Given the description of an element on the screen output the (x, y) to click on. 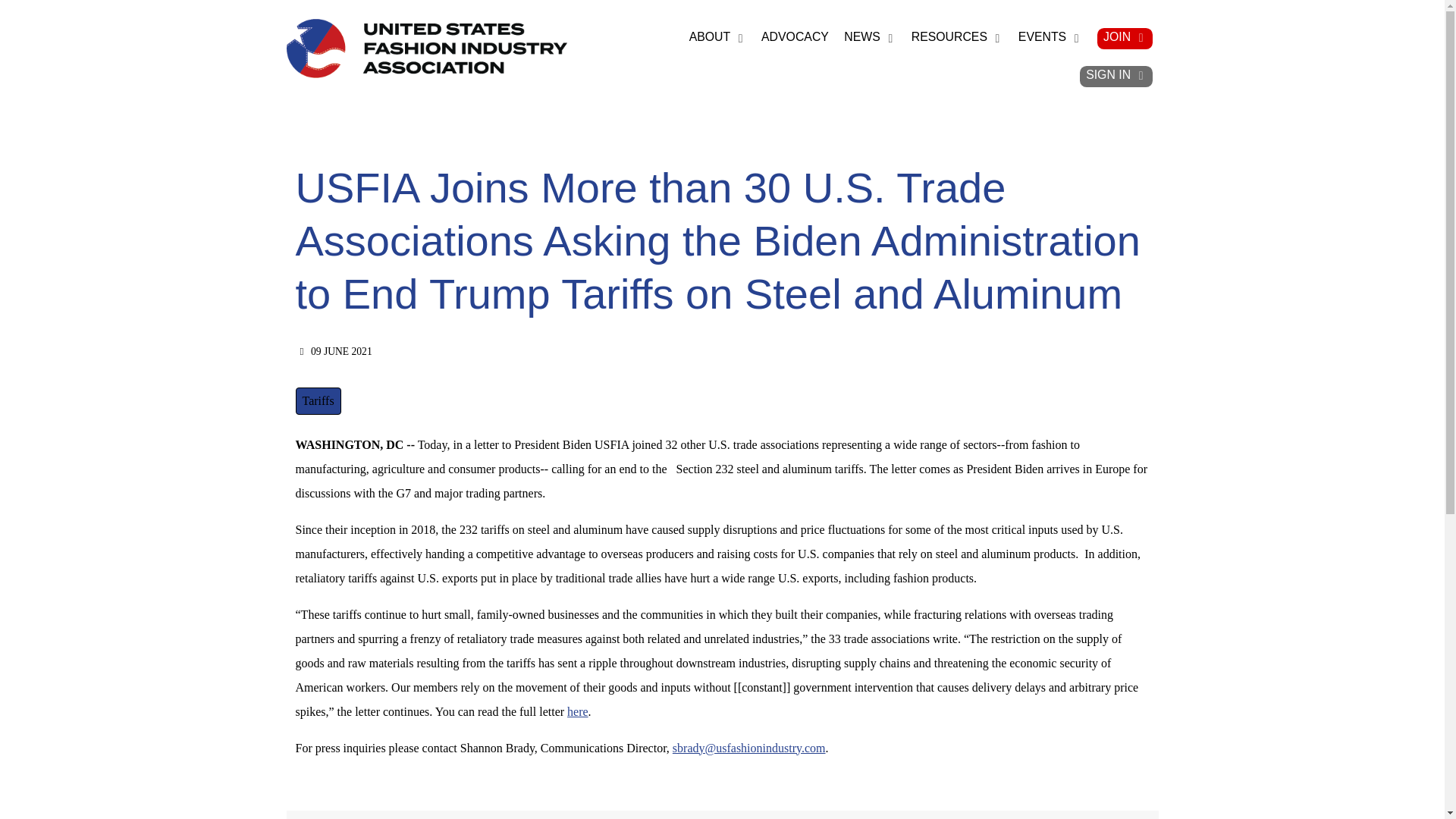
ABOUT (716, 38)
JOIN (1124, 38)
ADVOCACY (794, 38)
NEWS (869, 38)
